Given the description of an element on the screen output the (x, y) to click on. 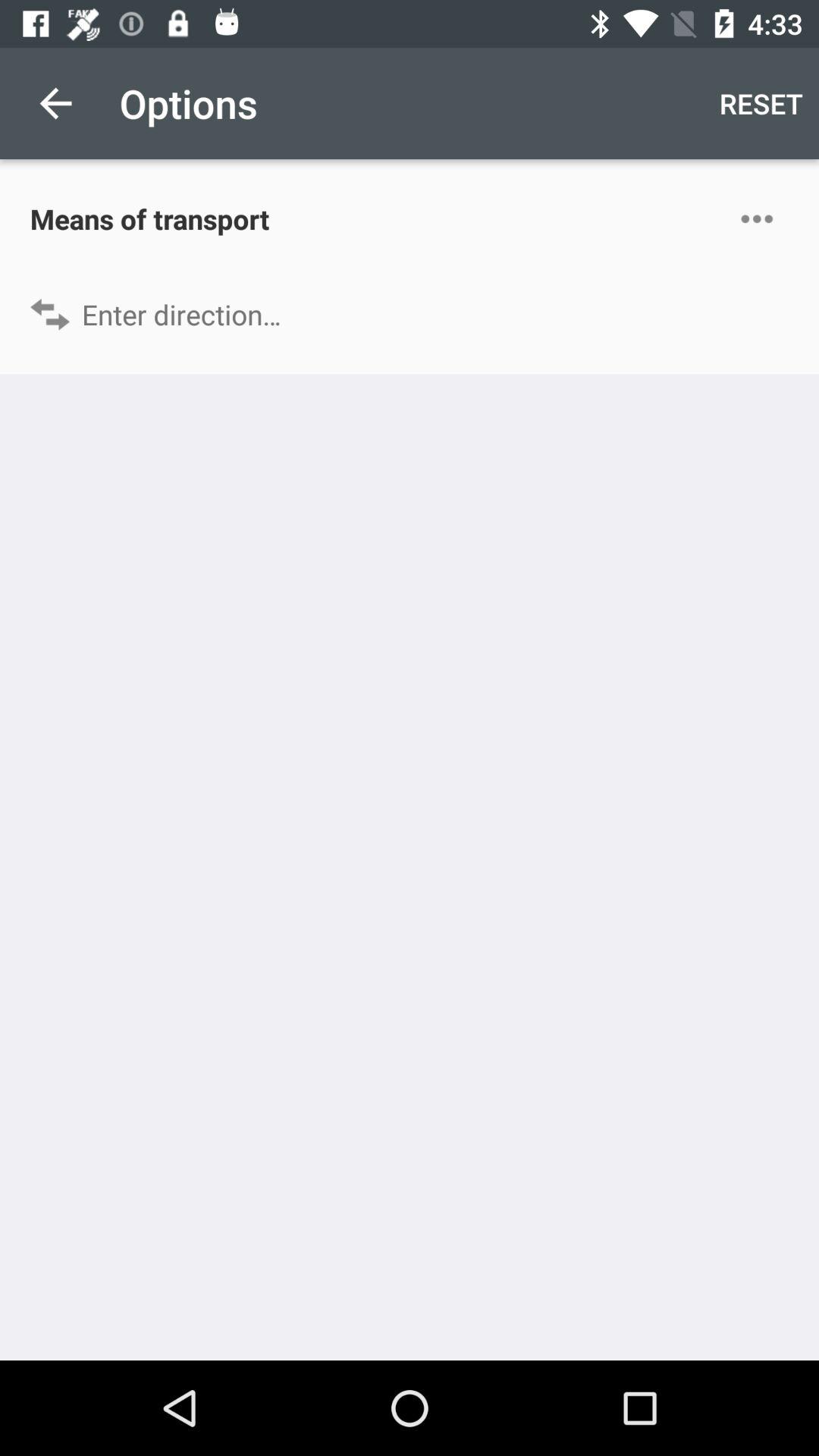
flip until reset (761, 103)
